Given the description of an element on the screen output the (x, y) to click on. 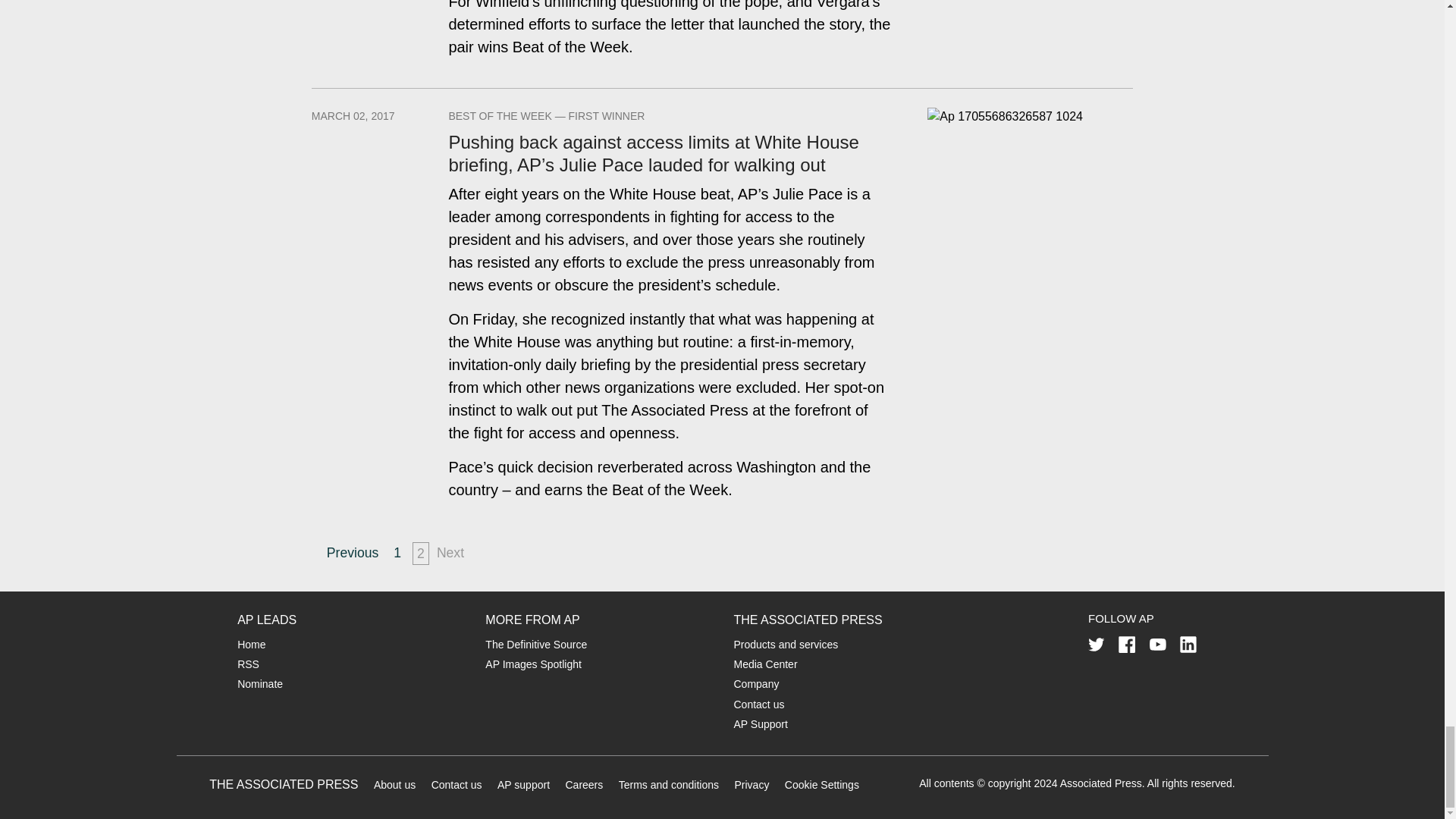
Home (250, 644)
Media Center (765, 664)
Previous (352, 552)
The Definitive Source (535, 644)
RSS (248, 664)
AP Images Spotlight (532, 664)
Company (755, 684)
Nominate (259, 684)
Products and services (785, 644)
AP Support (760, 724)
Contact us (758, 704)
